Given the description of an element on the screen output the (x, y) to click on. 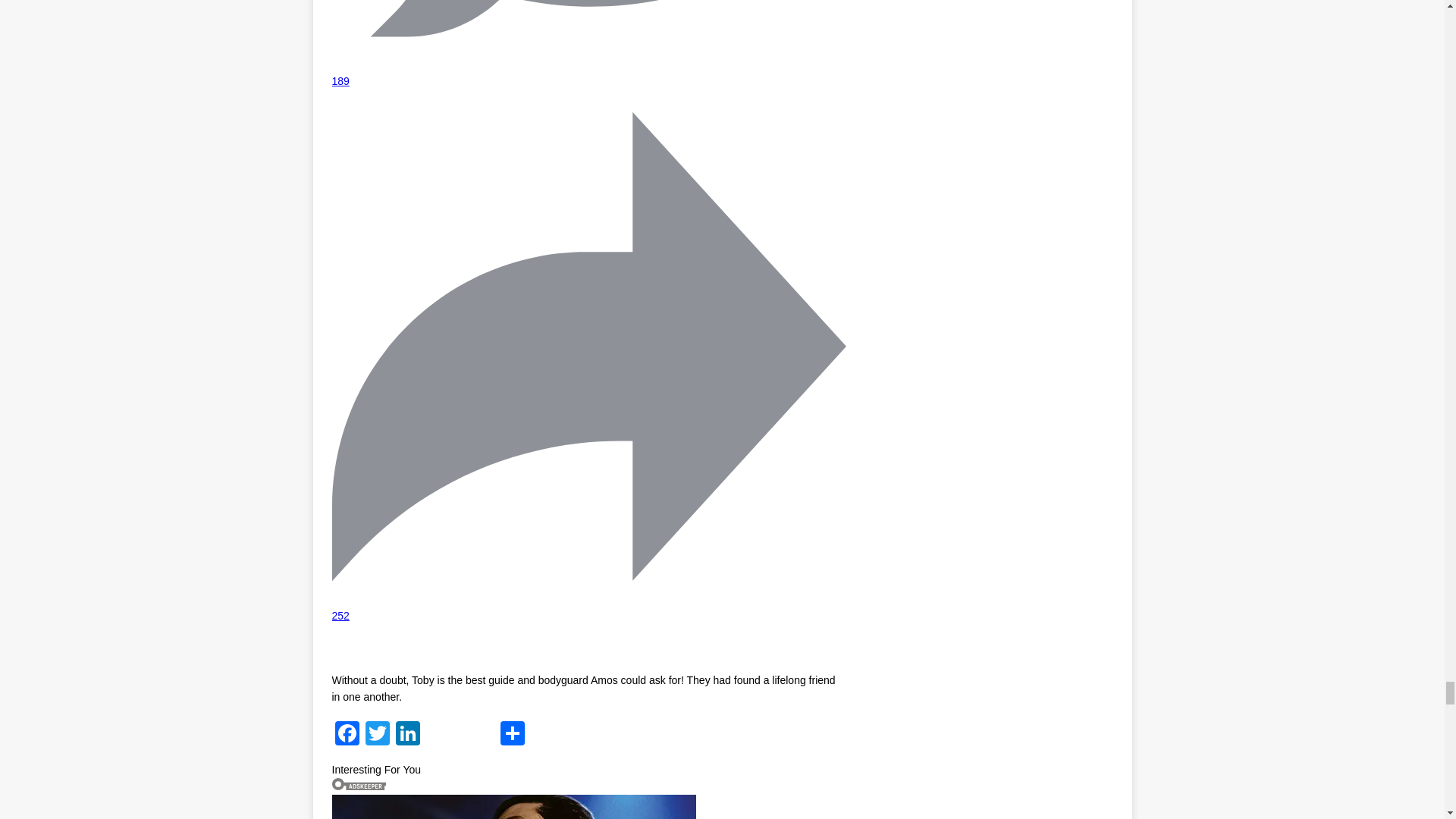
Twitter (377, 735)
Twitter (377, 735)
LinkedIn (408, 735)
LinkedIn (408, 735)
Facebook (346, 735)
Facebook (346, 735)
